Given the description of an element on the screen output the (x, y) to click on. 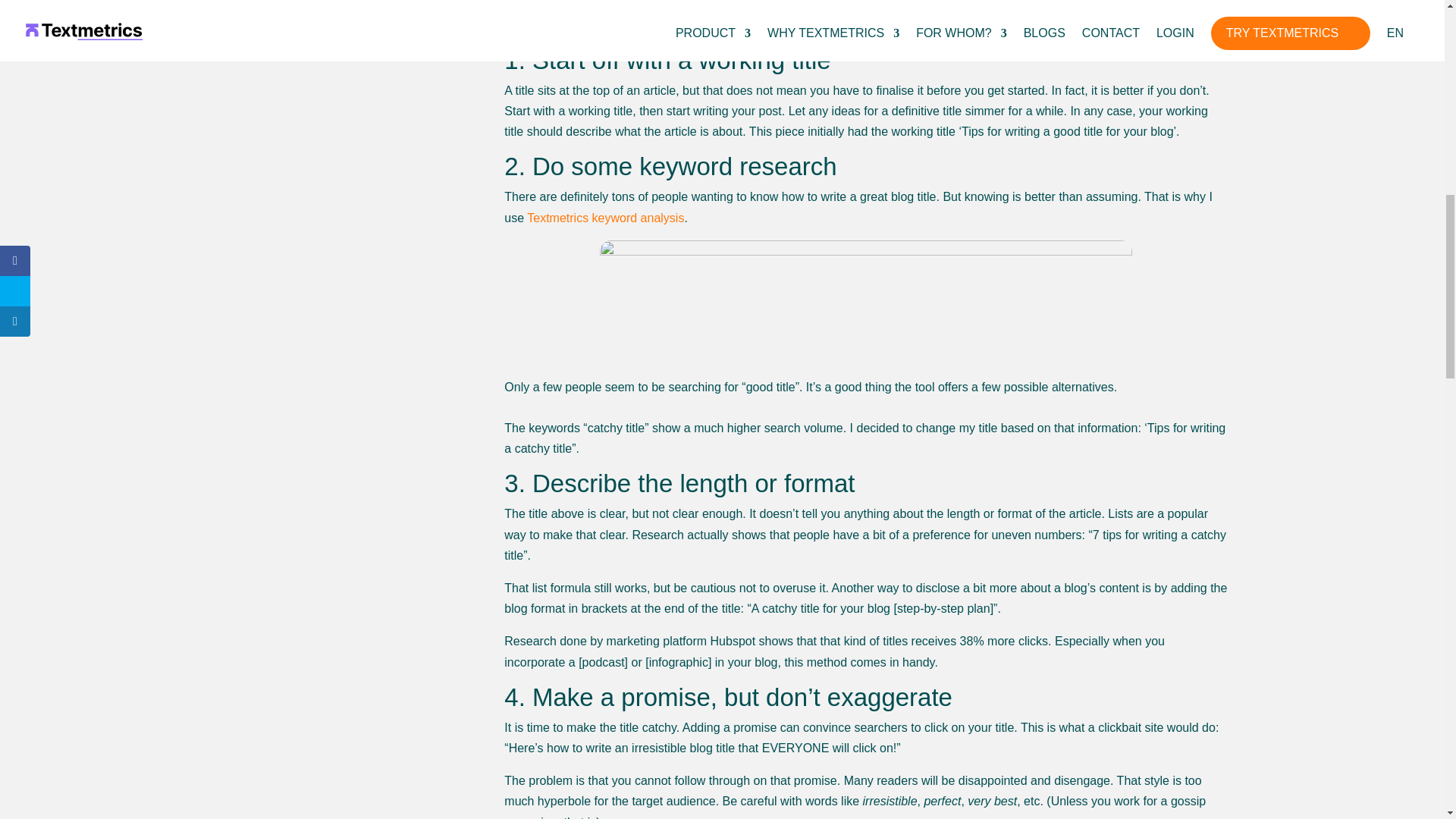
Textmetrics keyword analysis (604, 217)
